Given the description of an element on the screen output the (x, y) to click on. 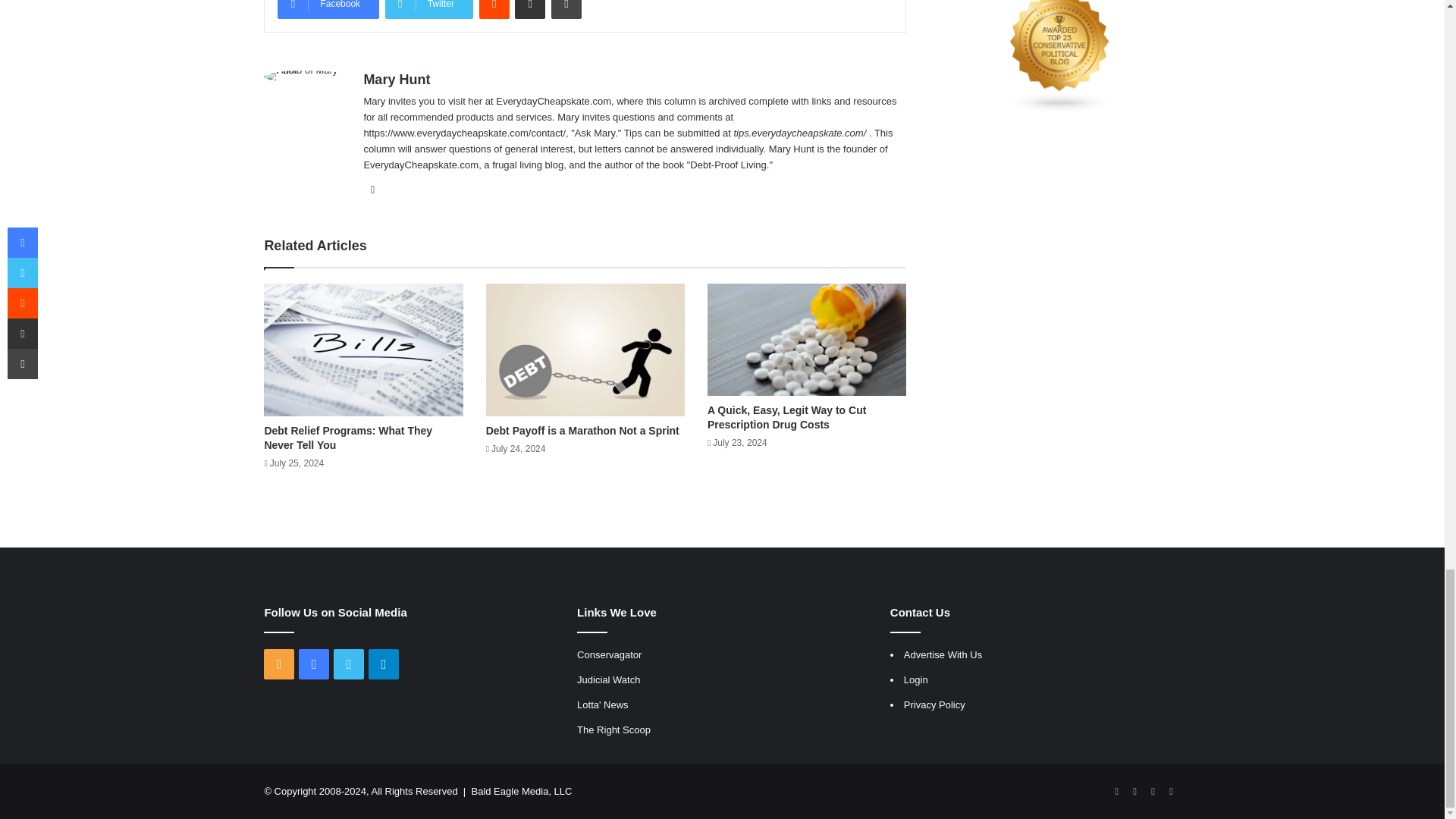
Facebook (328, 9)
Twitter (429, 9)
Reddit (494, 9)
